Given the description of an element on the screen output the (x, y) to click on. 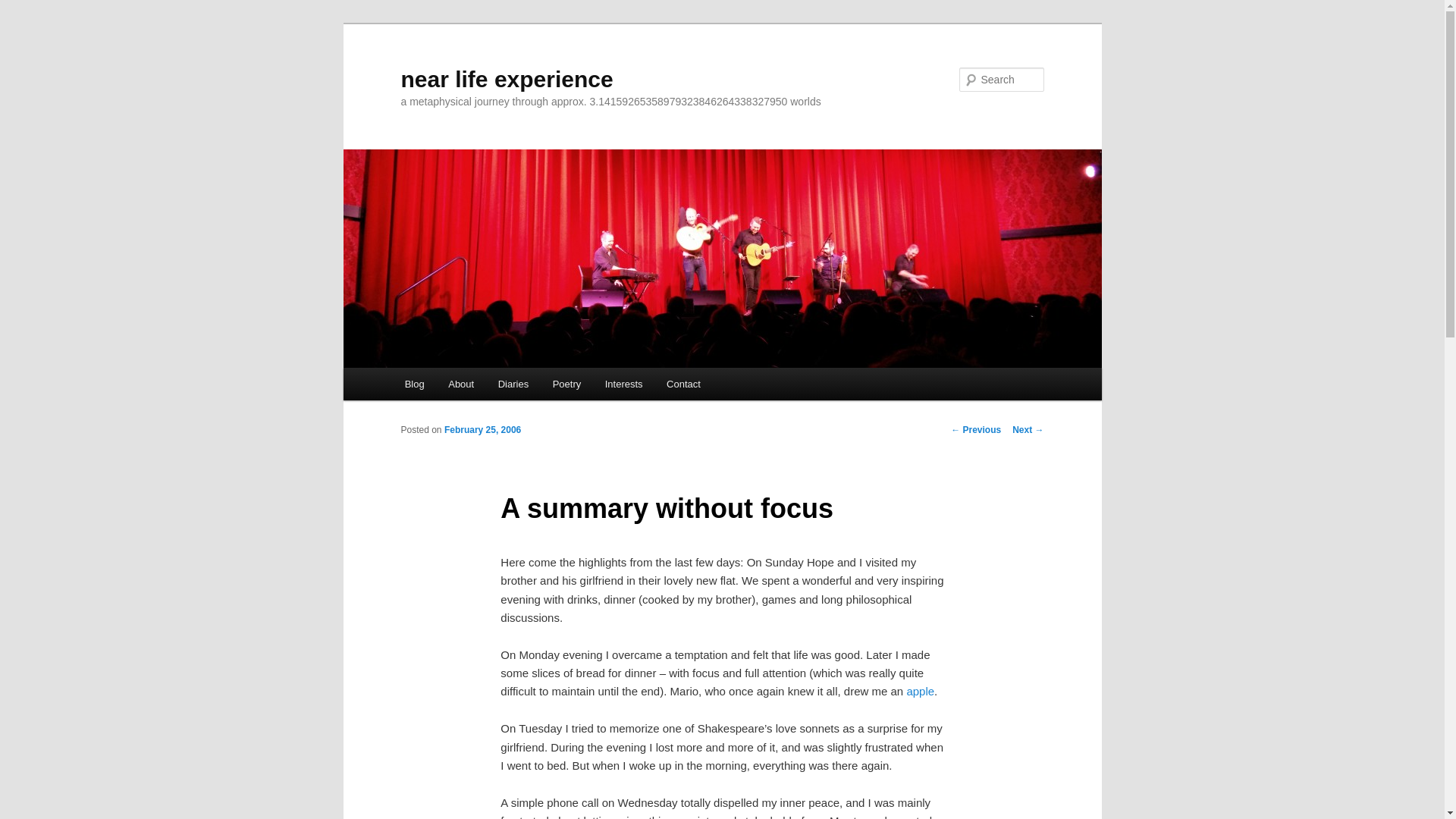
Poetry (566, 383)
Interests (622, 383)
1:26 am (482, 429)
Search (24, 8)
apple (919, 690)
February 25, 2006 (482, 429)
Diaries (513, 383)
near life experience (506, 78)
Contact (682, 383)
